Given the description of an element on the screen output the (x, y) to click on. 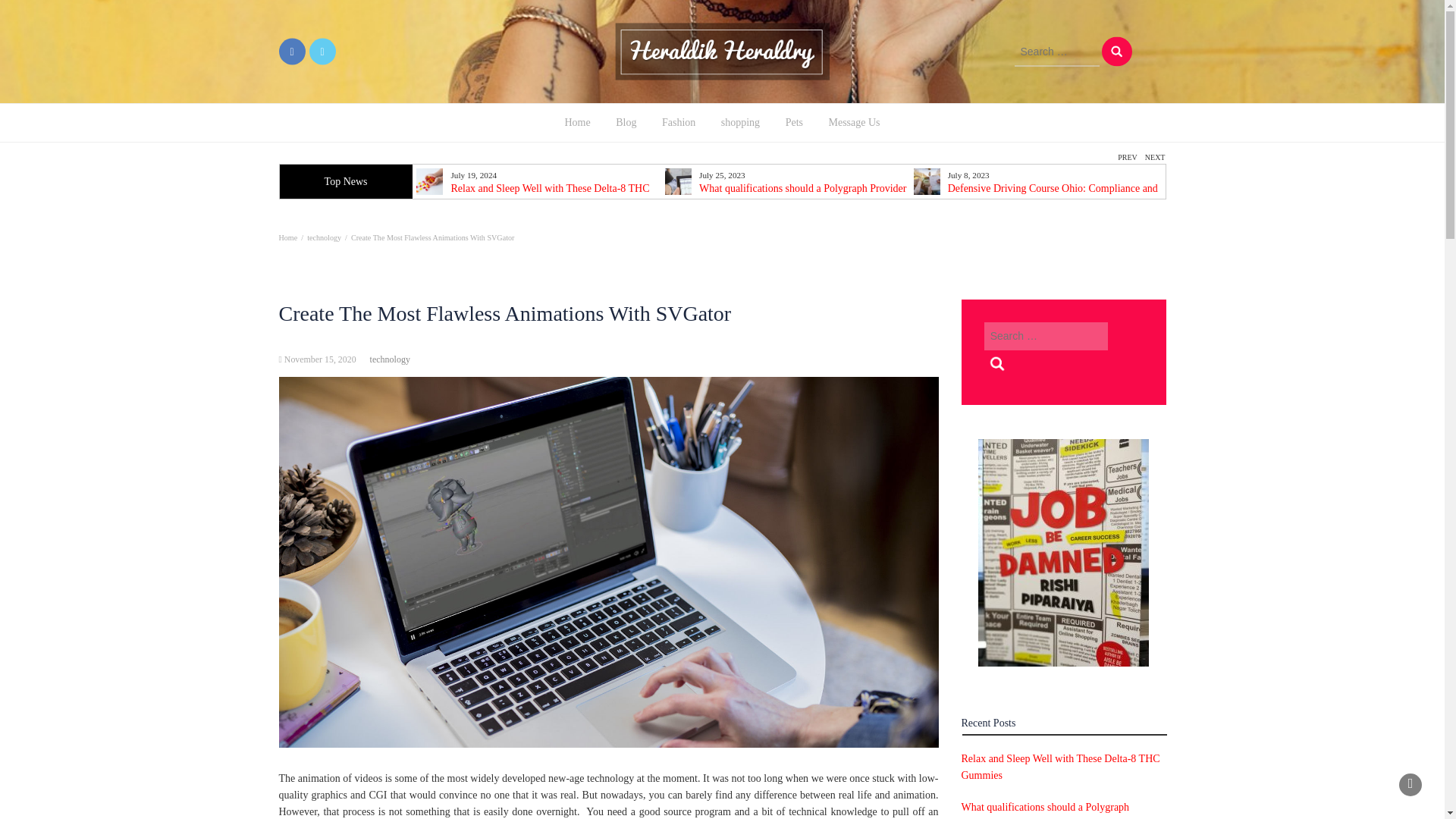
Search for: (1046, 336)
shopping (740, 122)
Blog (625, 122)
What qualifications should a Polygraph Provider have? (789, 194)
Home (288, 237)
technology (323, 237)
shopping (740, 122)
Relax and Sleep Well with These Delta-8 THC Gummies (1060, 766)
technology (389, 358)
